Given the description of an element on the screen output the (x, y) to click on. 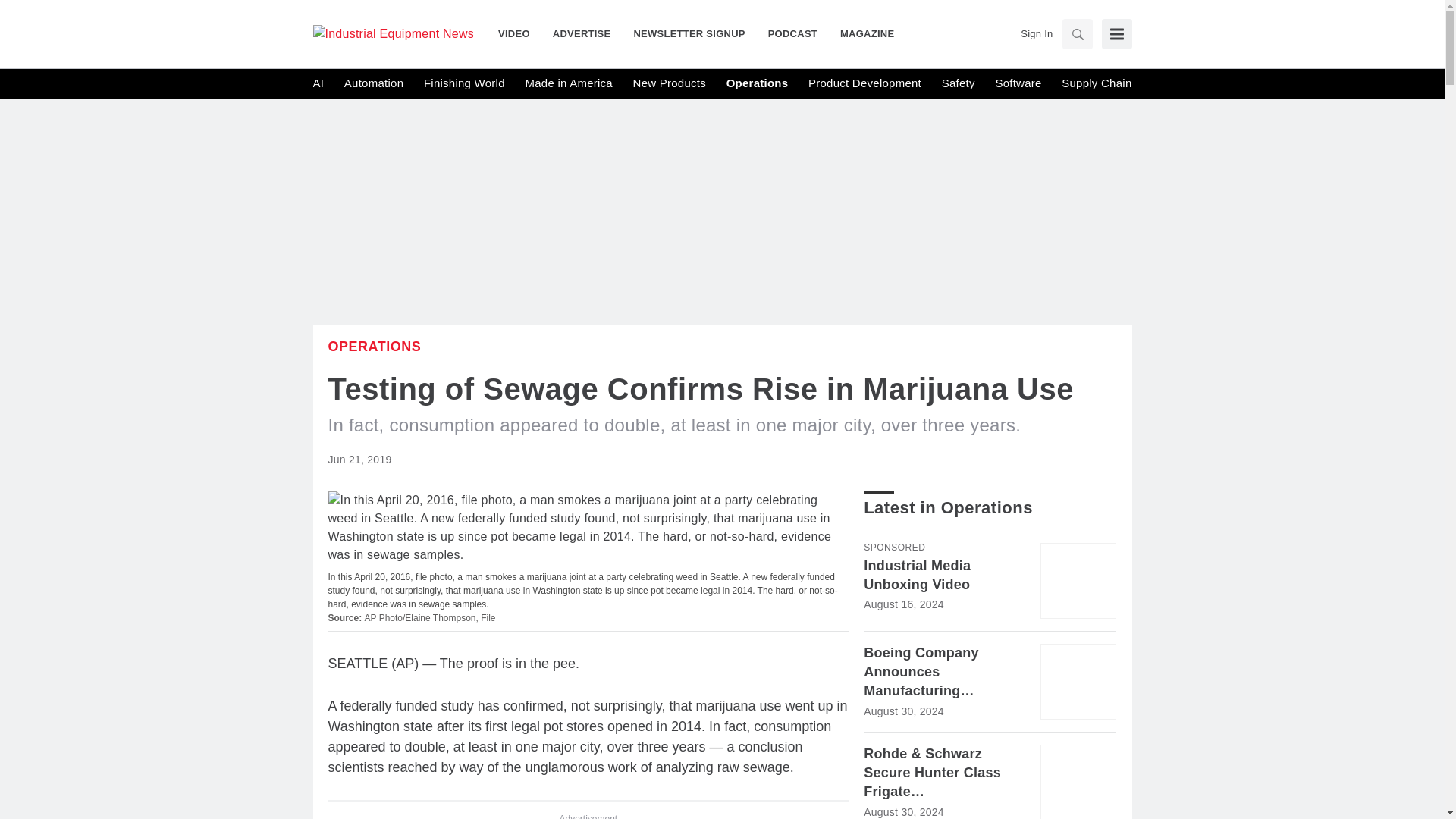
MAGAZINE (860, 33)
ADVERTISE (582, 33)
Operations (373, 346)
Sign In (1036, 33)
Made in America (567, 83)
Automation (373, 83)
Safety (958, 83)
Supply Chain (1096, 83)
Sponsored (893, 547)
VIDEO (519, 33)
